Given the description of an element on the screen output the (x, y) to click on. 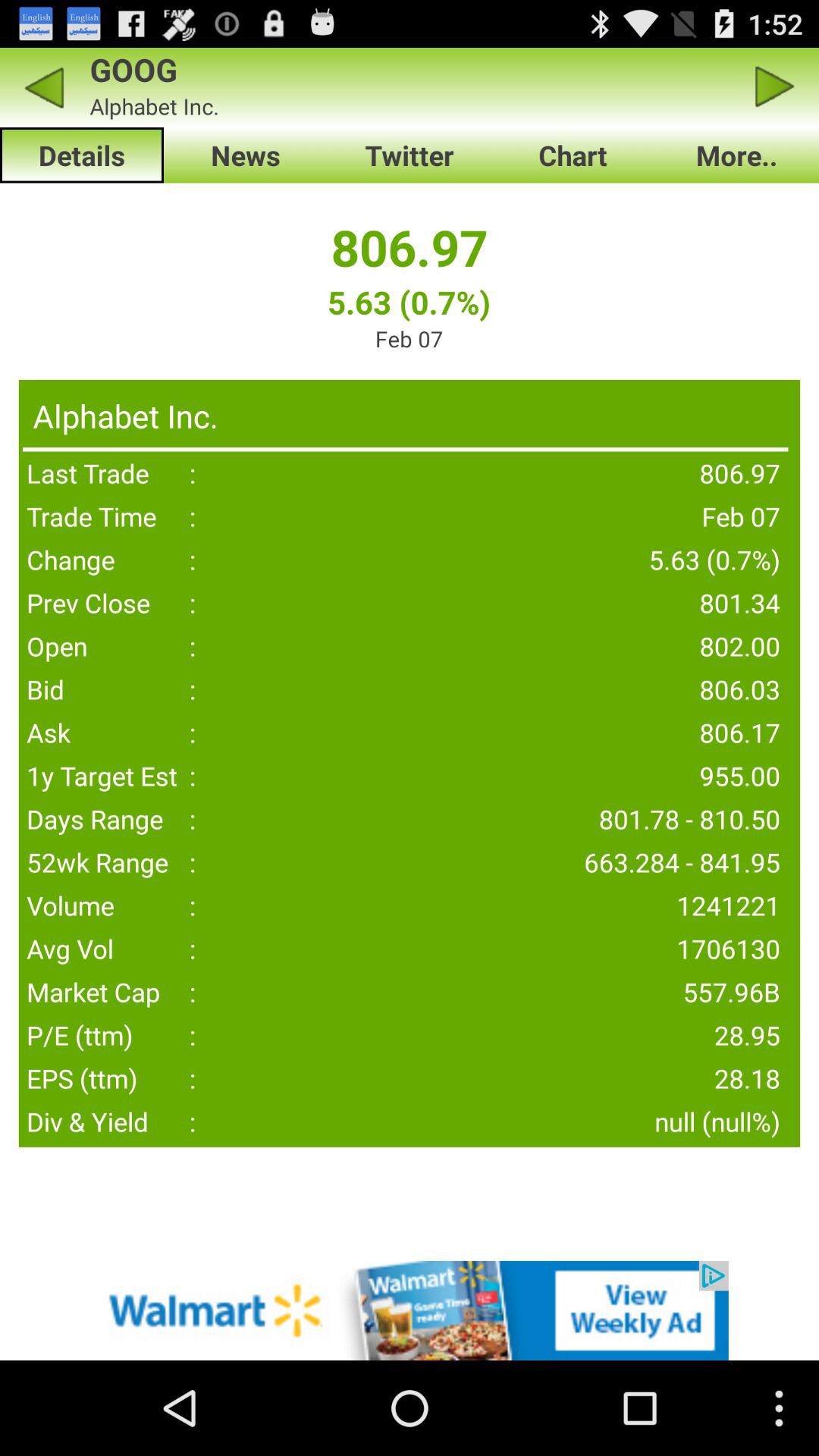
advertisement banner (409, 1310)
